Given the description of an element on the screen output the (x, y) to click on. 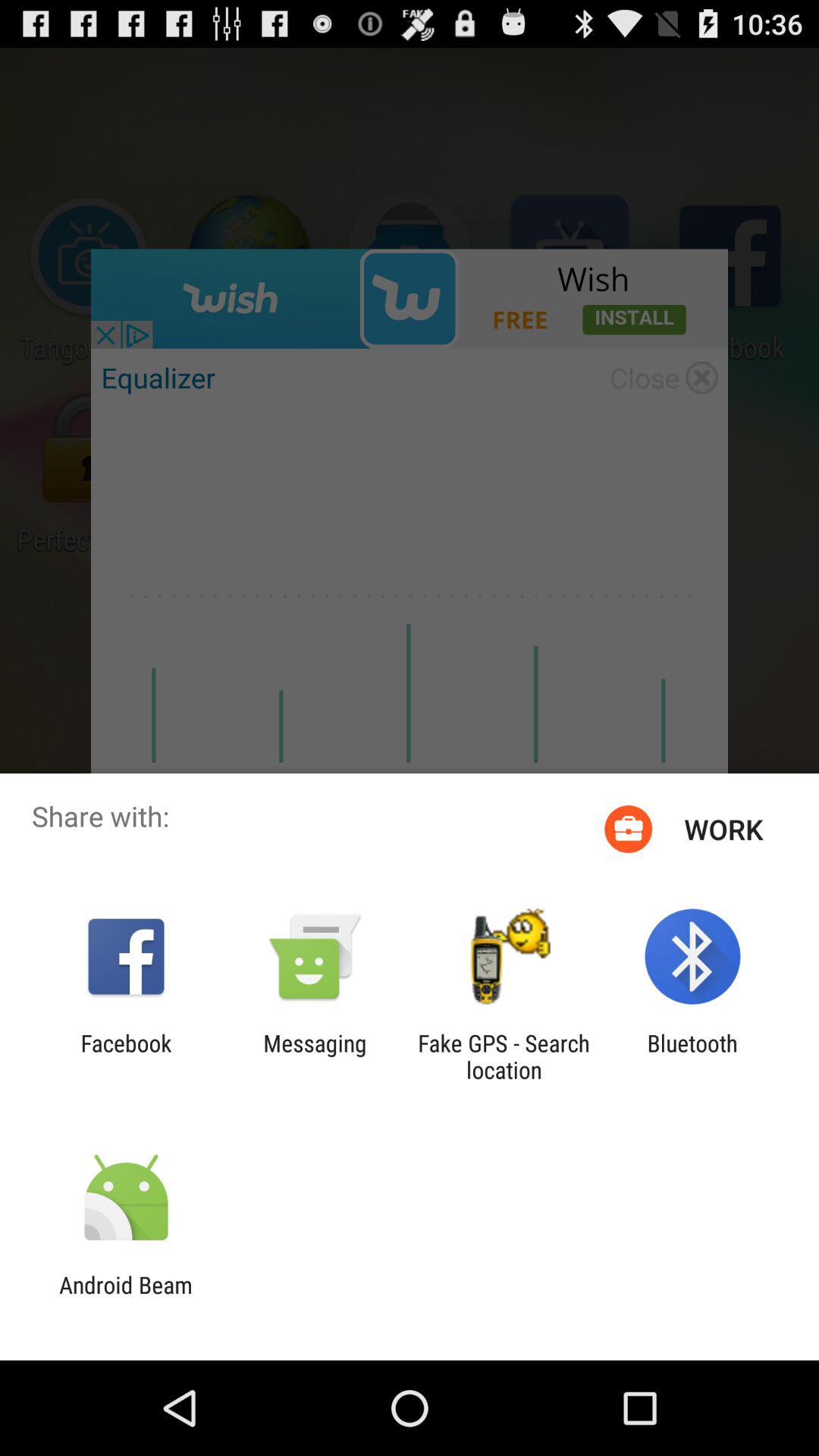
scroll to fake gps search (503, 1056)
